Given the description of an element on the screen output the (x, y) to click on. 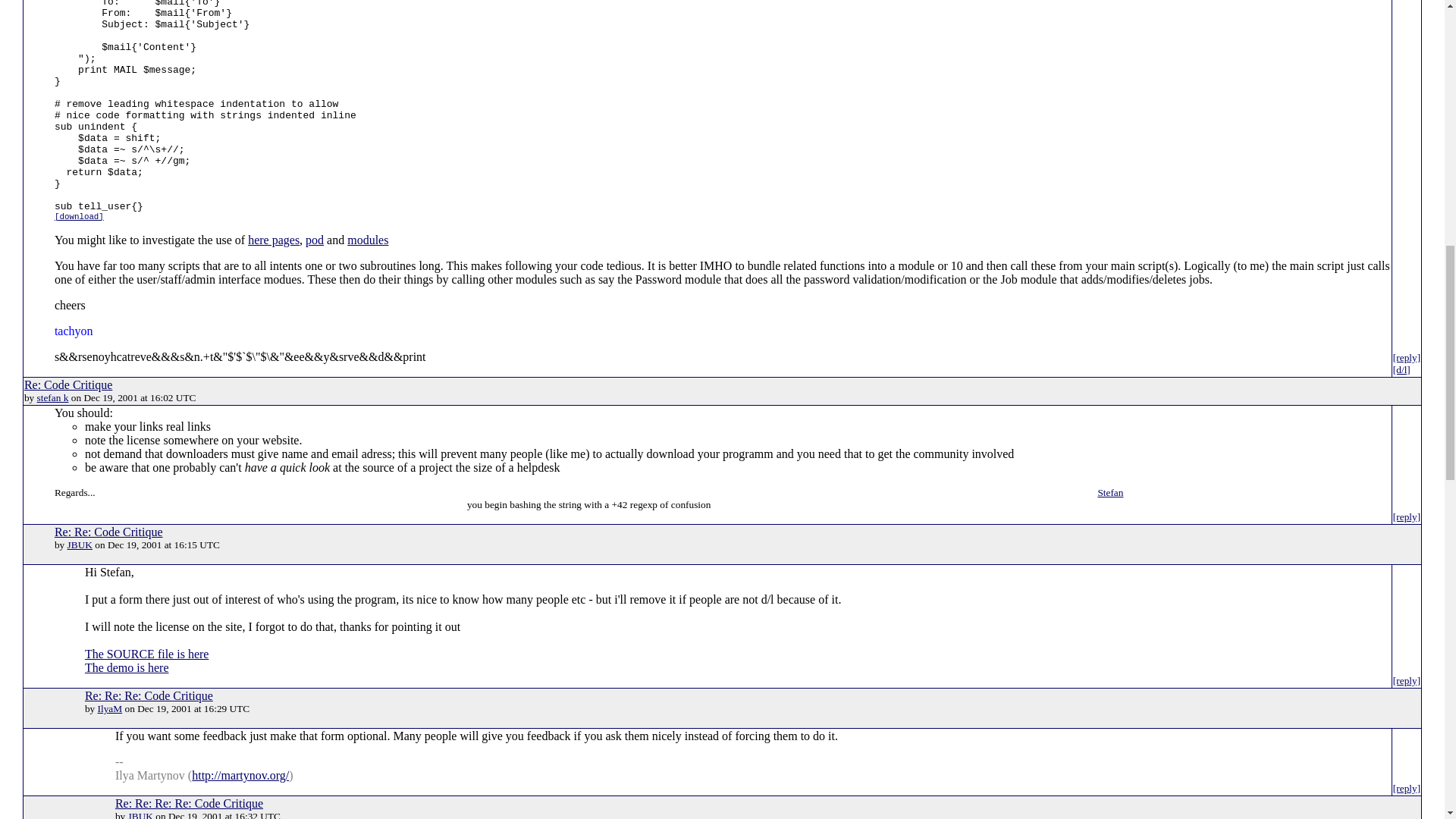
modules (367, 239)
pod (314, 239)
here pages (273, 239)
